Given the description of an element on the screen output the (x, y) to click on. 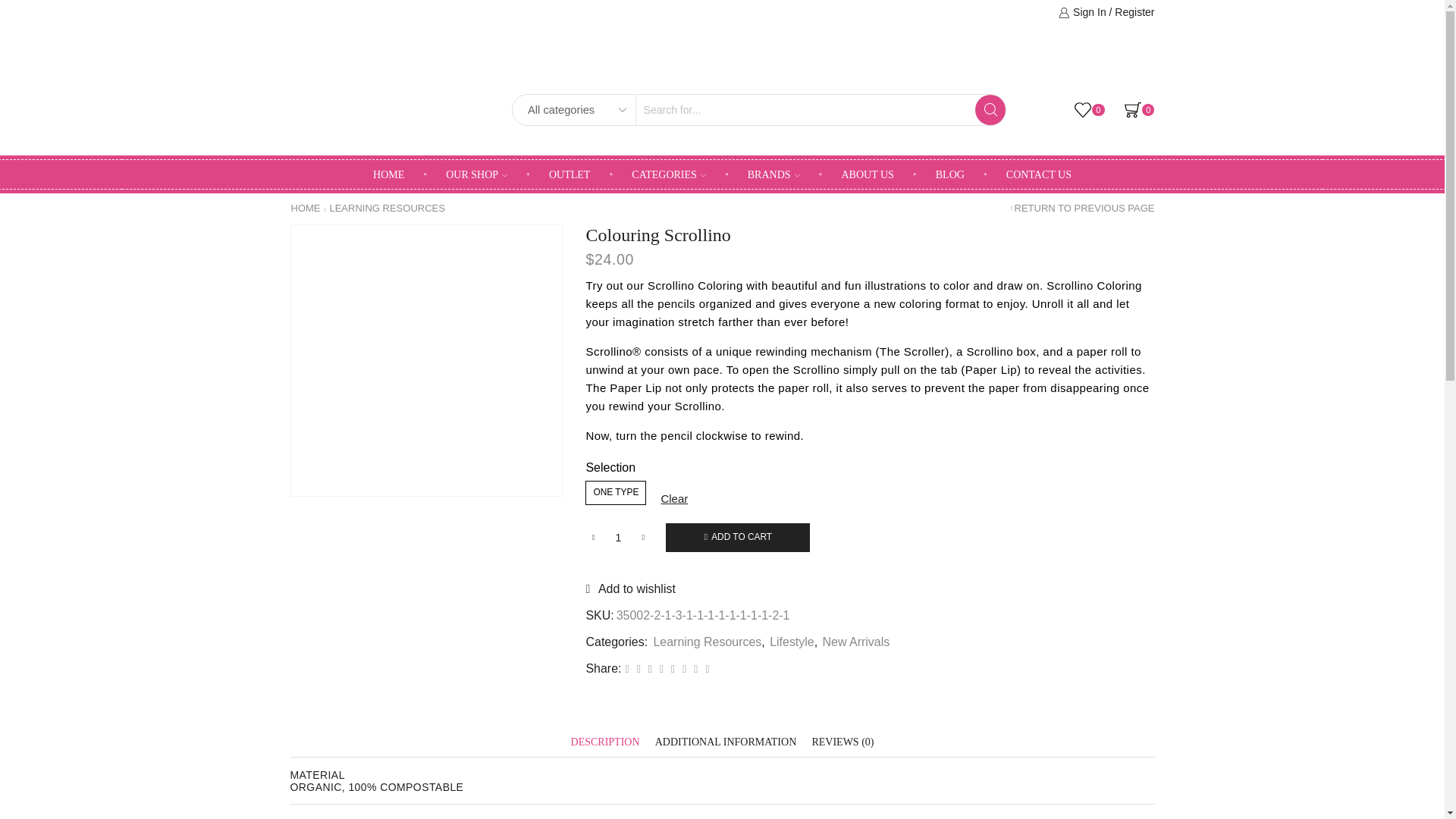
OUR SHOP (475, 174)
Log in (912, 252)
BRANDS (773, 174)
HOME (388, 174)
Twitter (627, 668)
0 (1089, 110)
0 (1139, 110)
1 (617, 537)
OUTLET (568, 174)
CATEGORIES (668, 174)
